Given the description of an element on the screen output the (x, y) to click on. 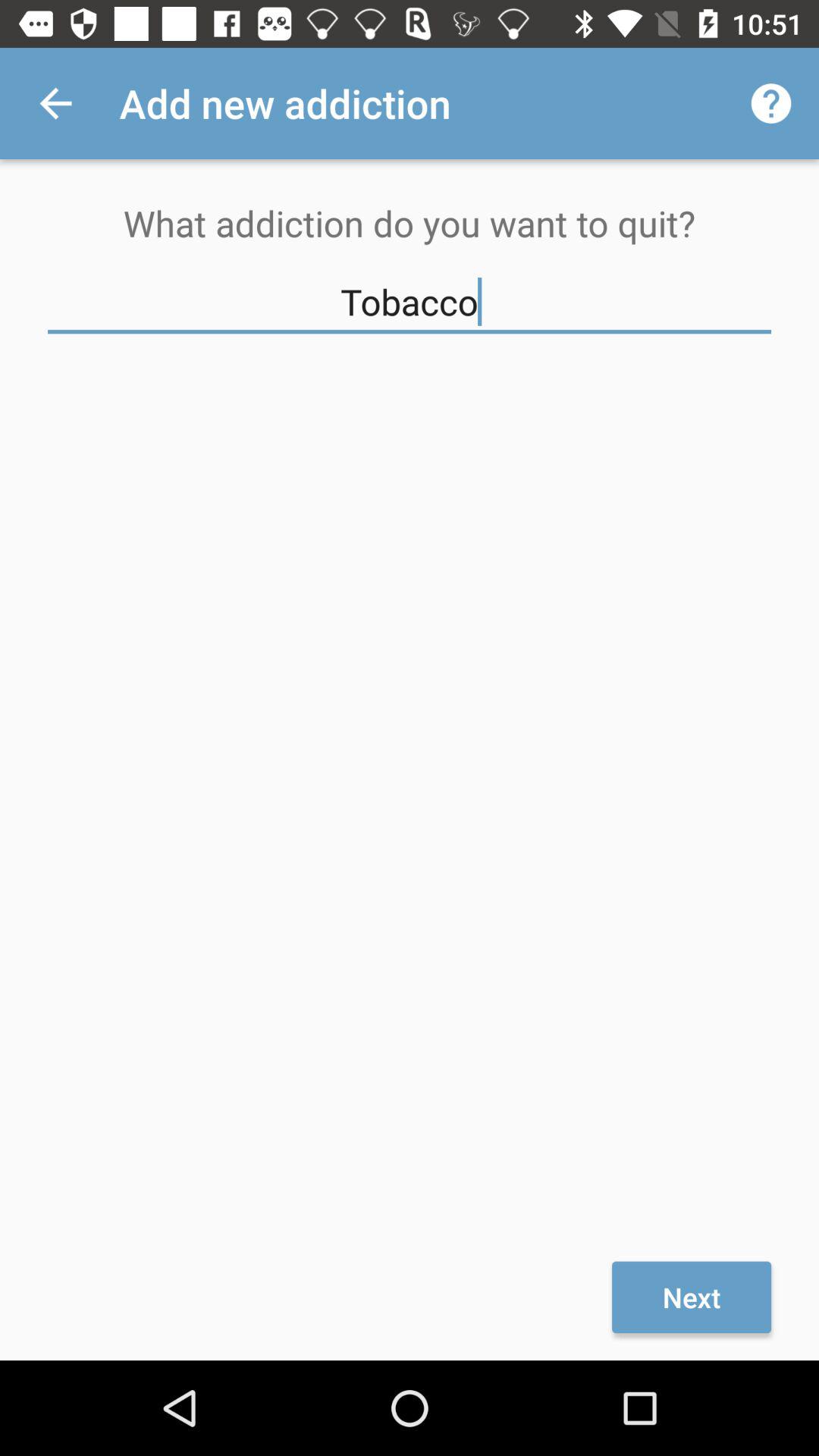
click item at the top right corner (771, 103)
